Given the description of an element on the screen output the (x, y) to click on. 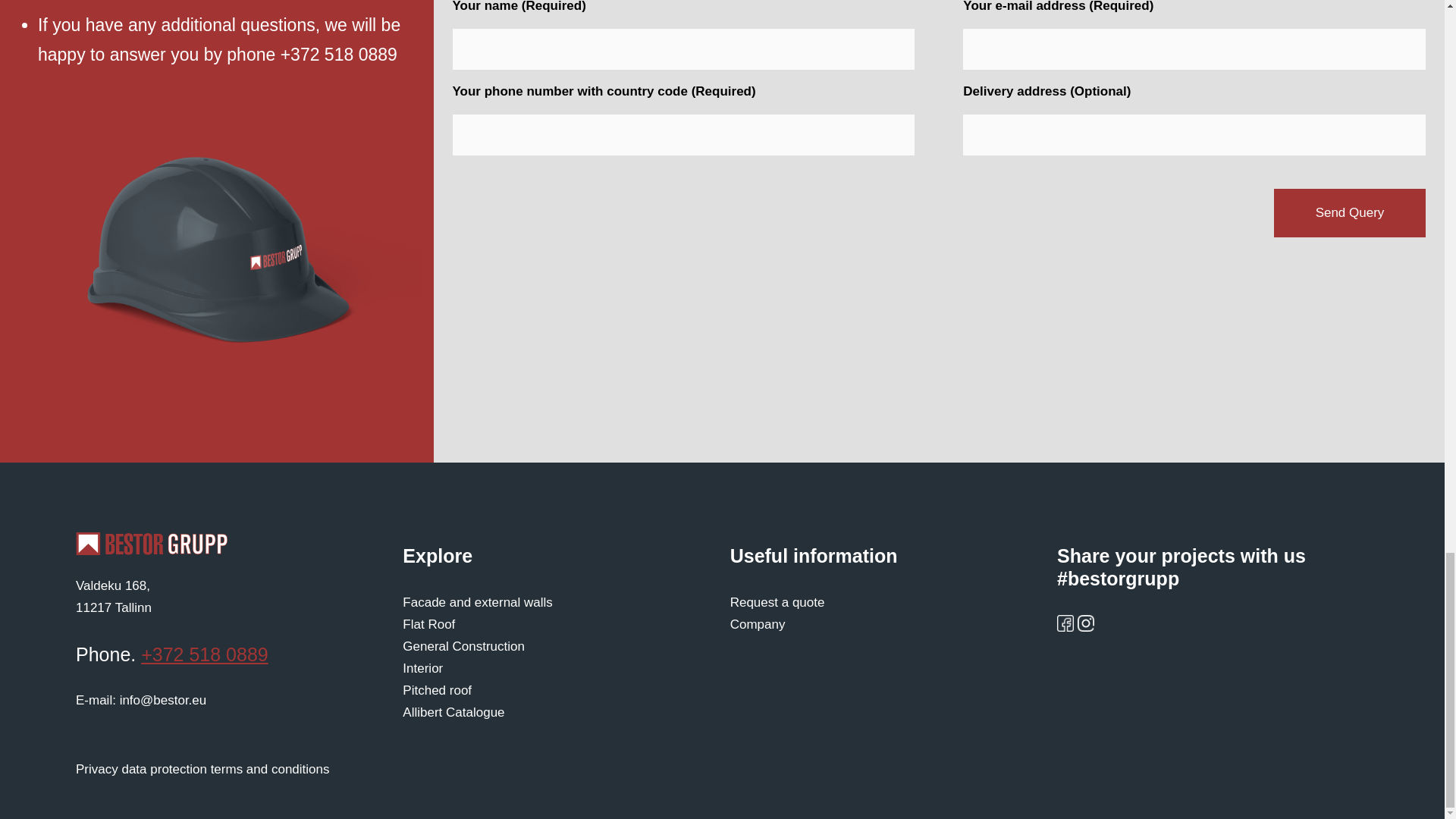
Send Query (1349, 213)
Pitched roof (437, 690)
Interior (422, 667)
Flat Roof (428, 624)
Bestor Grupp AS (151, 544)
General Construction (463, 646)
Send Query (113, 596)
Facade and external walls (1349, 213)
Allibert Catalogue (478, 602)
